Given the description of an element on the screen output the (x, y) to click on. 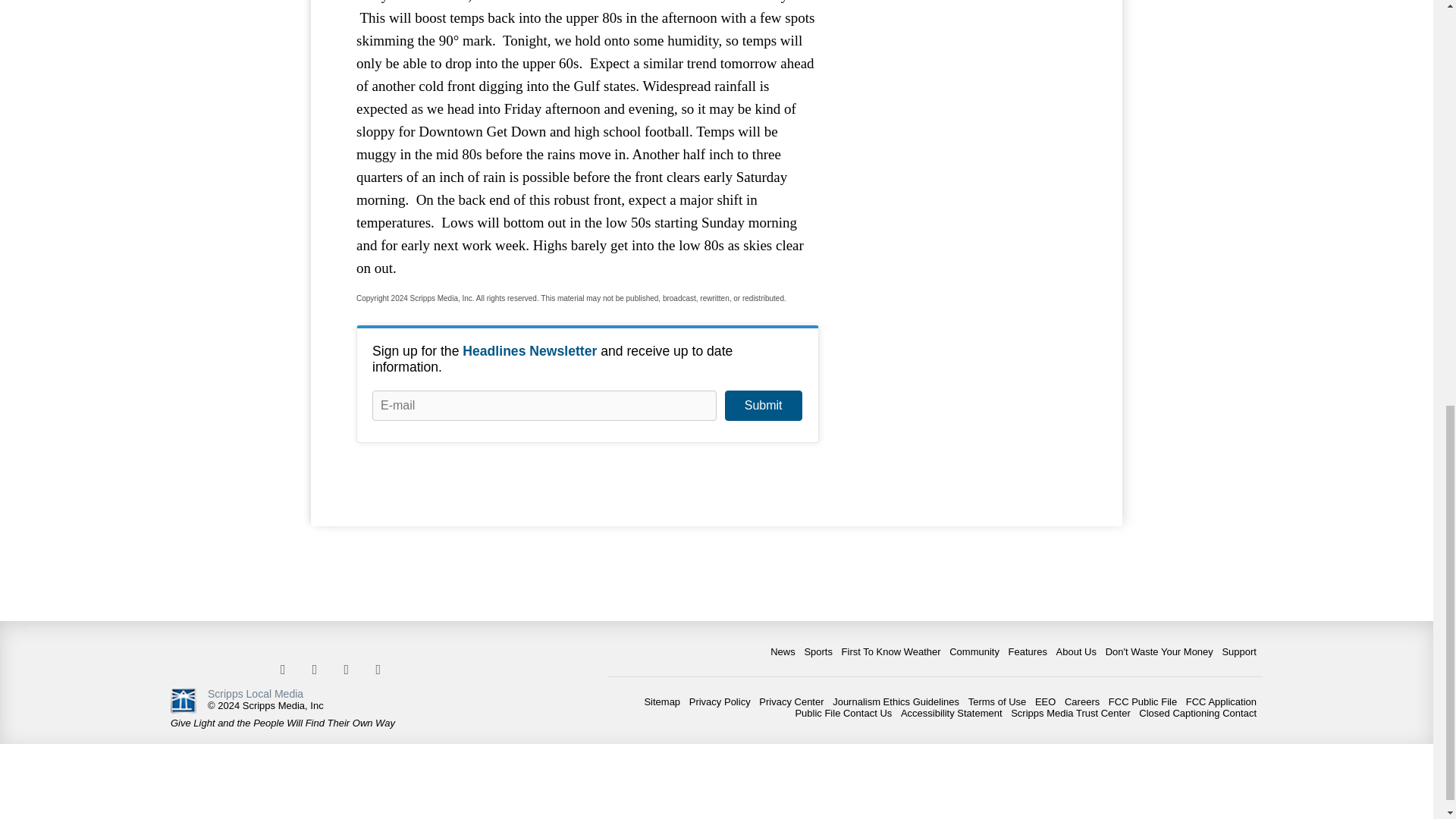
Submit (763, 405)
